Given the description of an element on the screen output the (x, y) to click on. 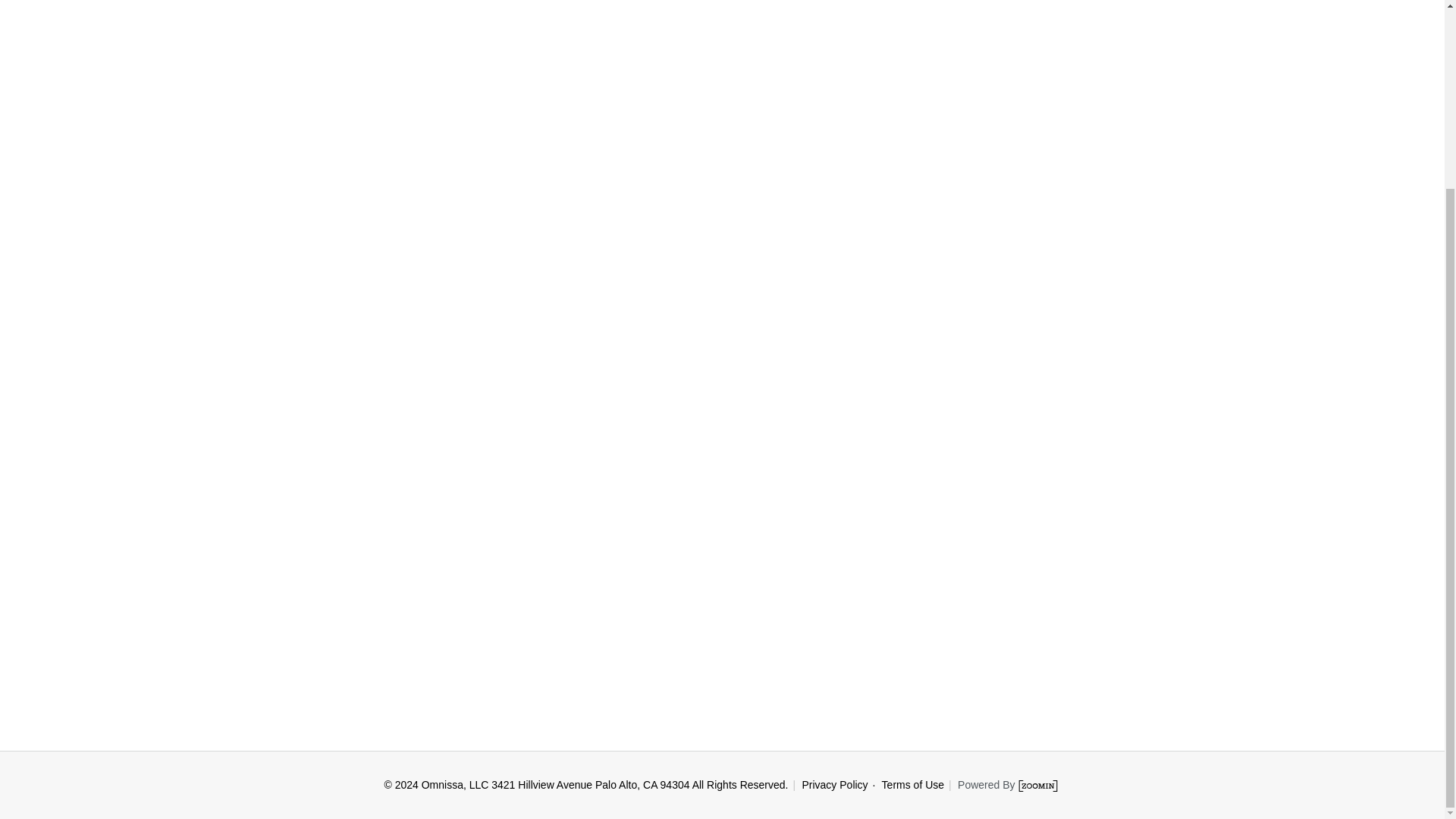
Privacy Policy (834, 784)
Terms of Use (909, 784)
